Given the description of an element on the screen output the (x, y) to click on. 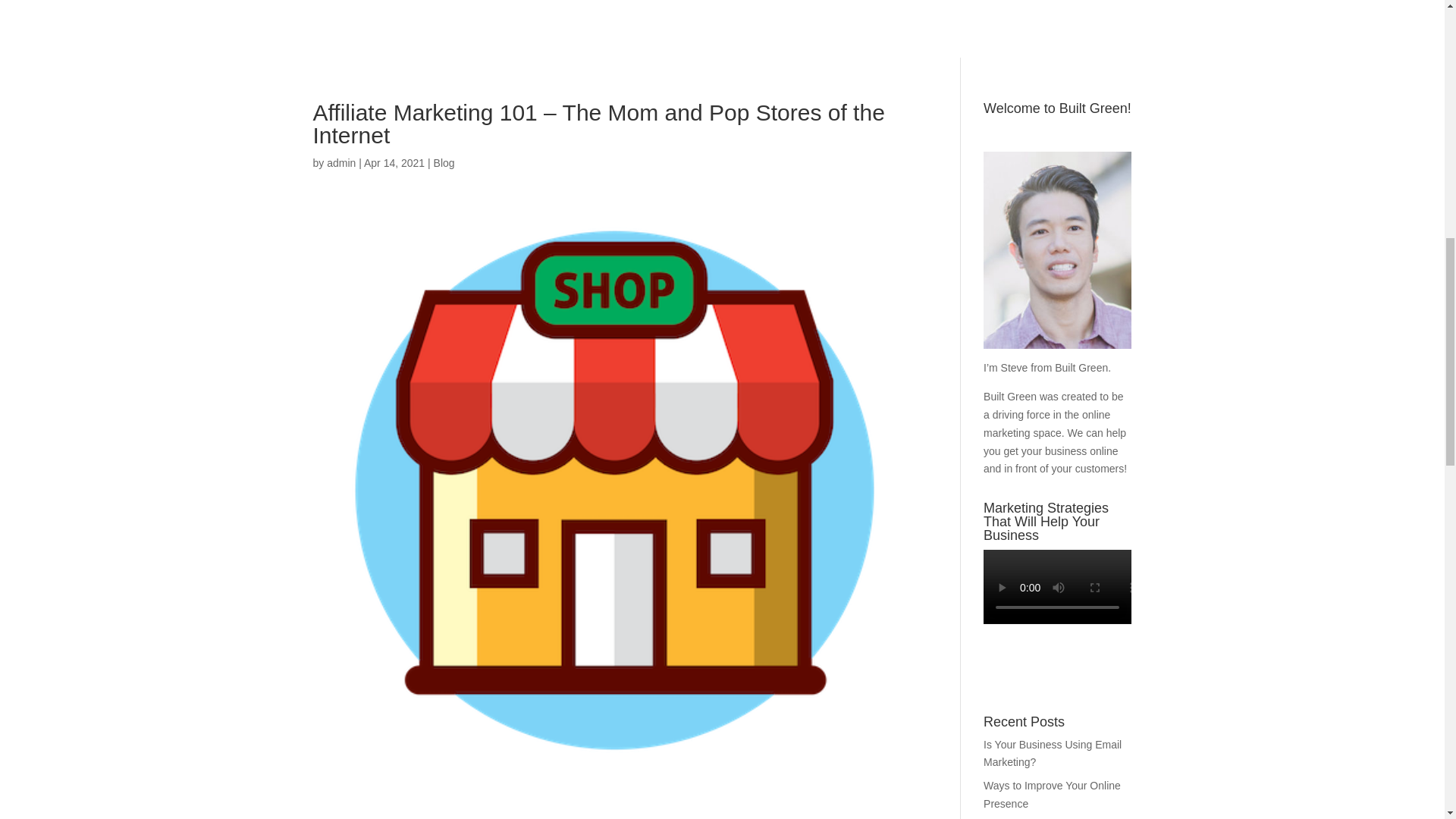
Blog (443, 162)
Posts by admin (340, 162)
Is Your Business Using Email Marketing? (1052, 753)
Ways to Improve Your Online Presence (1052, 794)
admin (340, 162)
